Given the description of an element on the screen output the (x, y) to click on. 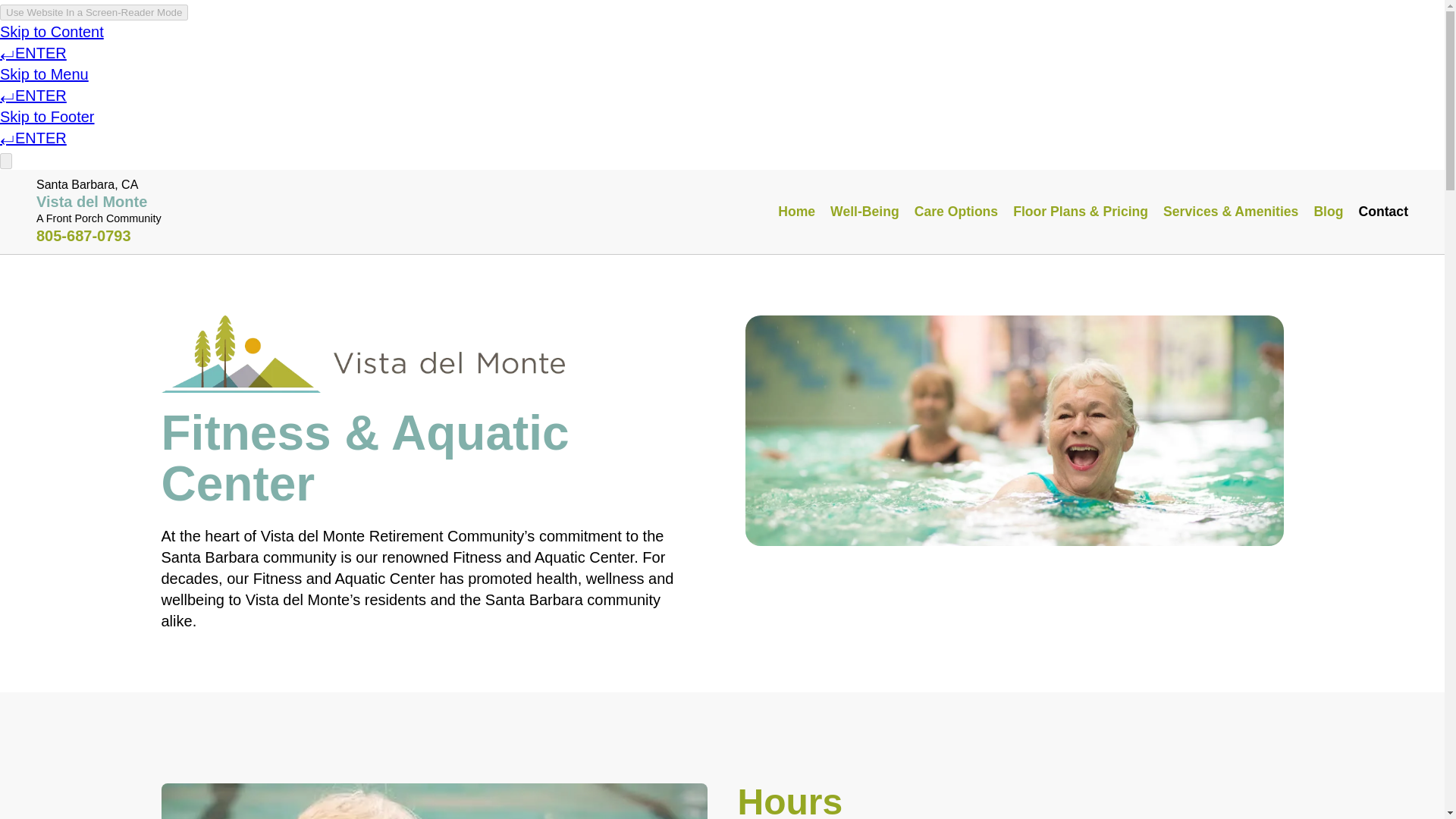
Contact (1383, 211)
A Front Porch Community (98, 218)
Vista del Monte (91, 201)
Care Options (955, 211)
Well-Being (864, 211)
Home (796, 211)
805-687-0793 (83, 235)
Blog (1327, 211)
